Given the description of an element on the screen output the (x, y) to click on. 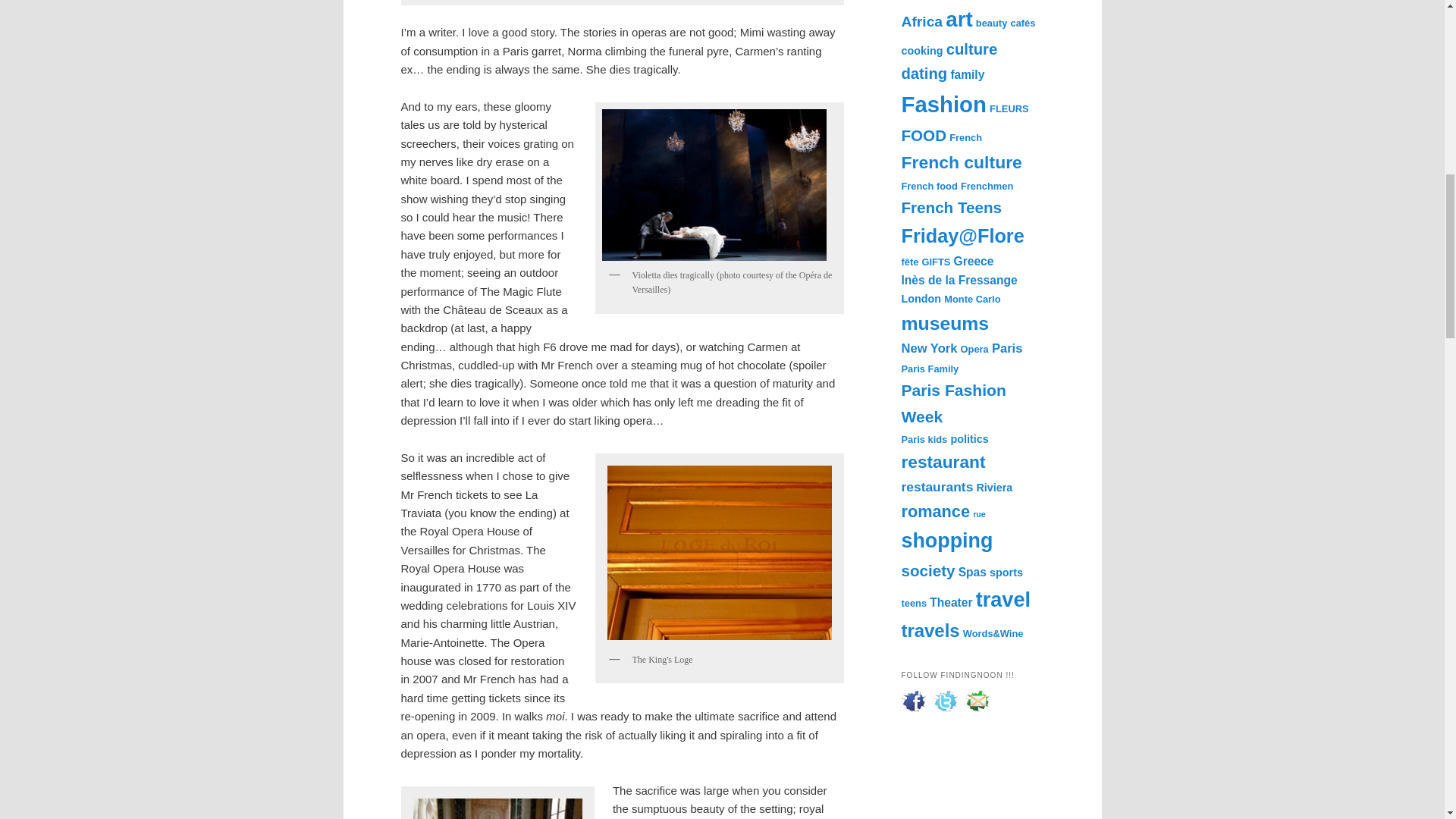
The King's Loge at the Versaille Royal Opera house (719, 552)
Follow Us on Facebook (912, 701)
